Given the description of an element on the screen output the (x, y) to click on. 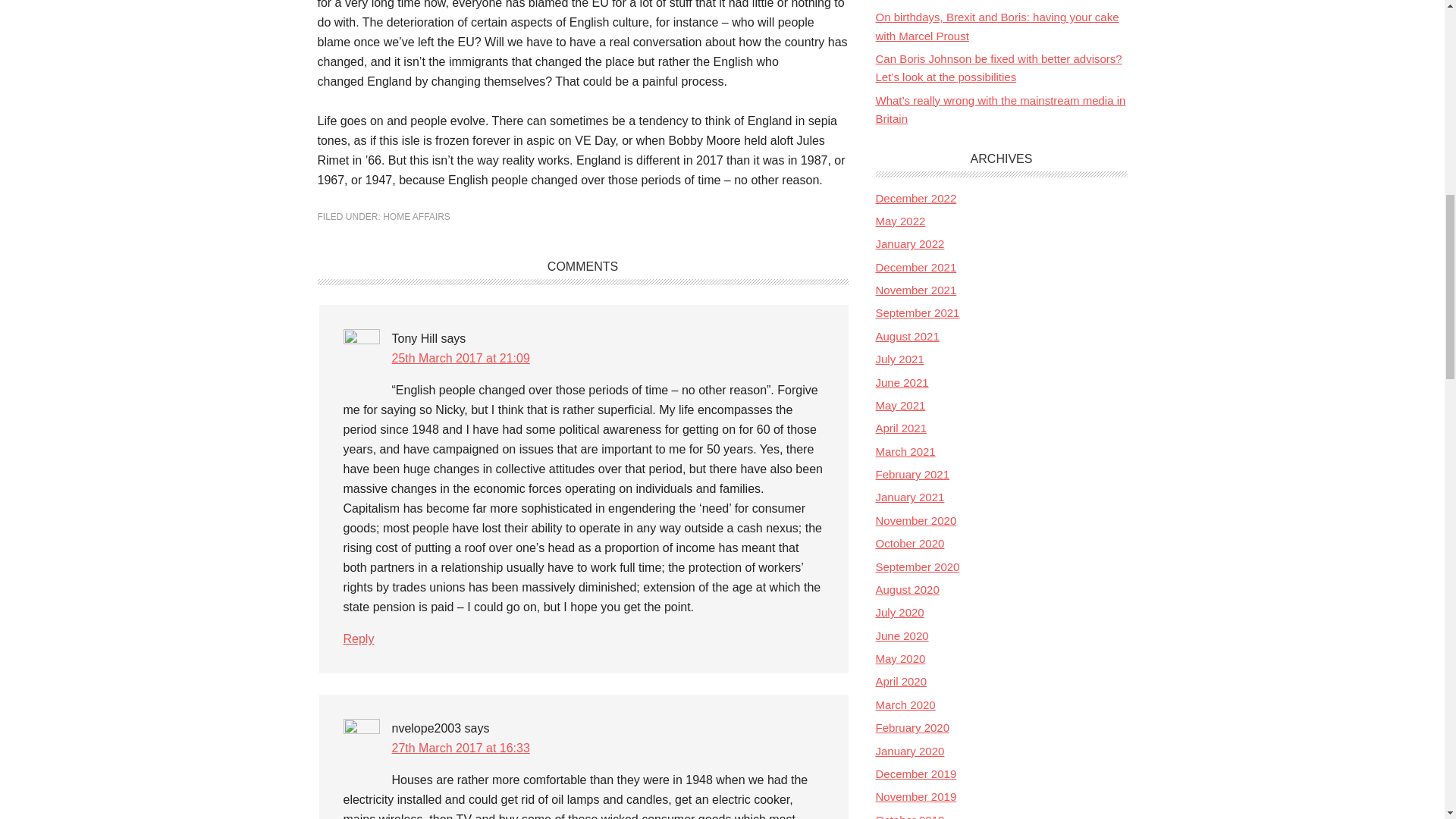
December 2021 (915, 267)
December 2022 (915, 197)
May 2022 (899, 220)
June 2021 (901, 382)
January 2021 (909, 496)
January 2022 (909, 243)
May 2021 (899, 404)
November 2020 (915, 520)
October 2020 (909, 543)
25th March 2017 at 21:09 (460, 358)
